Given the description of an element on the screen output the (x, y) to click on. 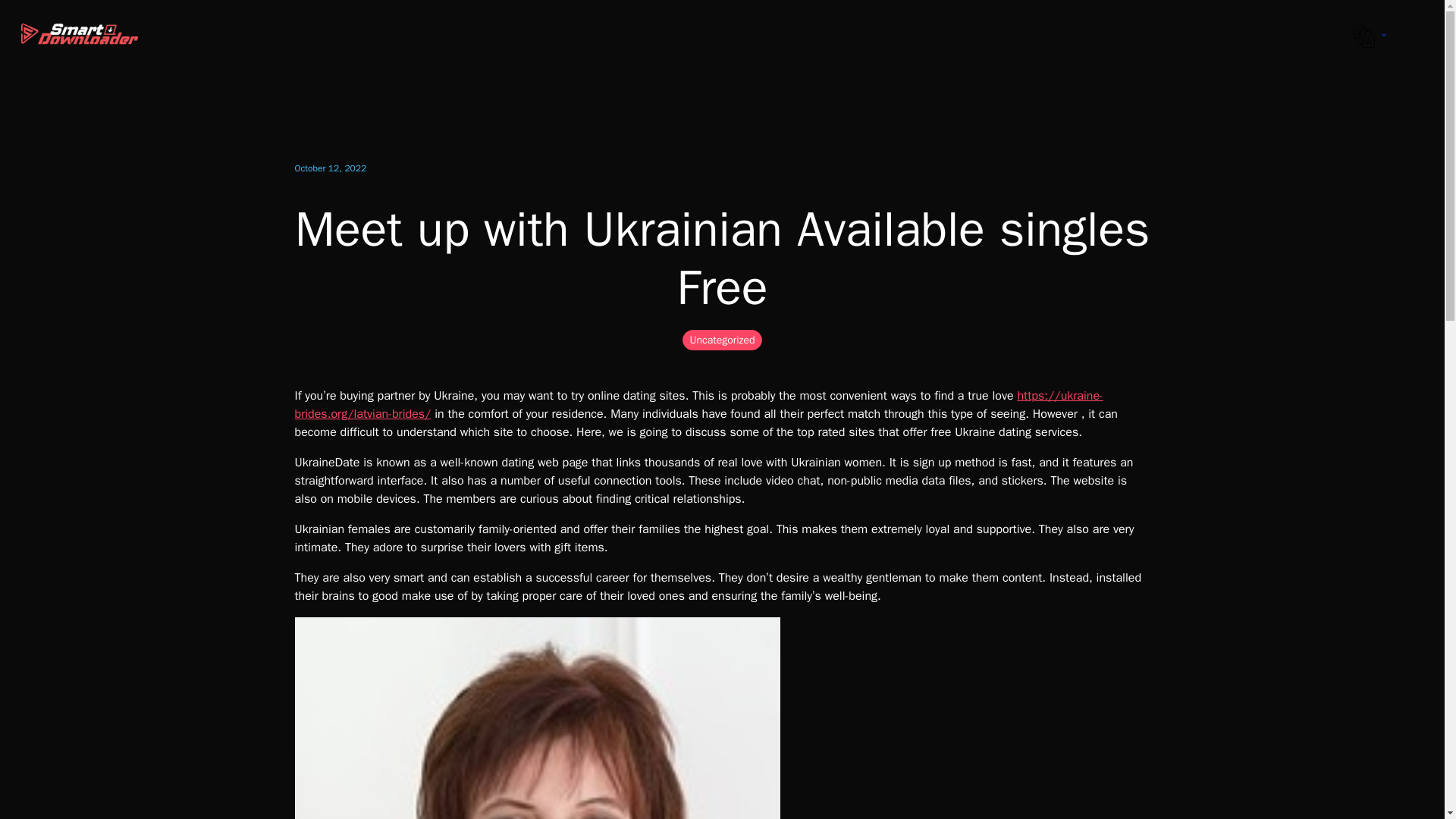
Uncategorized (721, 340)
